Given the description of an element on the screen output the (x, y) to click on. 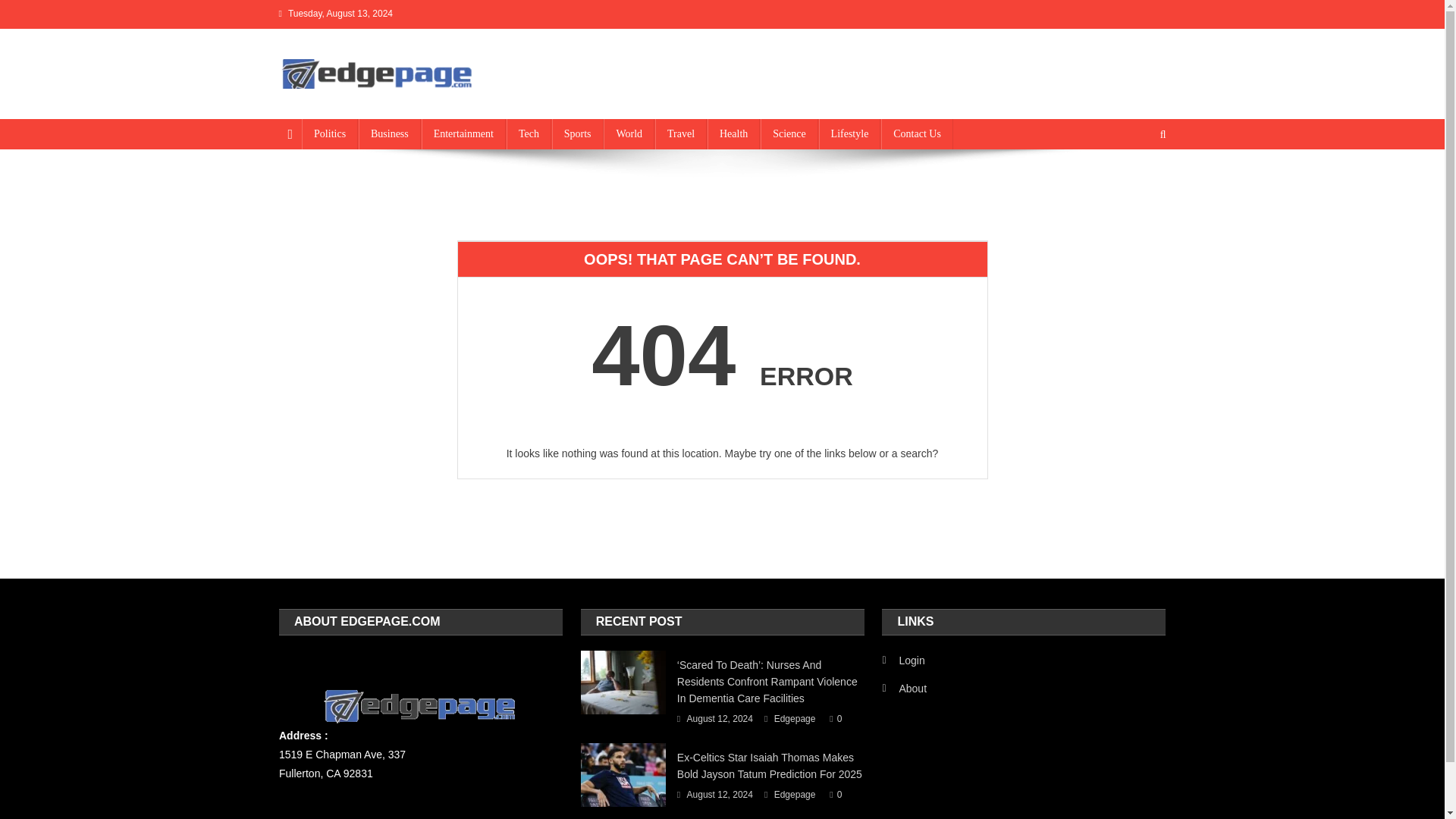
World (628, 133)
Lifestyle (849, 133)
Edgepage (794, 795)
August 12, 2024 (719, 719)
August 12, 2024 (719, 795)
About (904, 688)
Science (789, 133)
Edgepage (794, 719)
Edge Page News (376, 103)
